Given the description of an element on the screen output the (x, y) to click on. 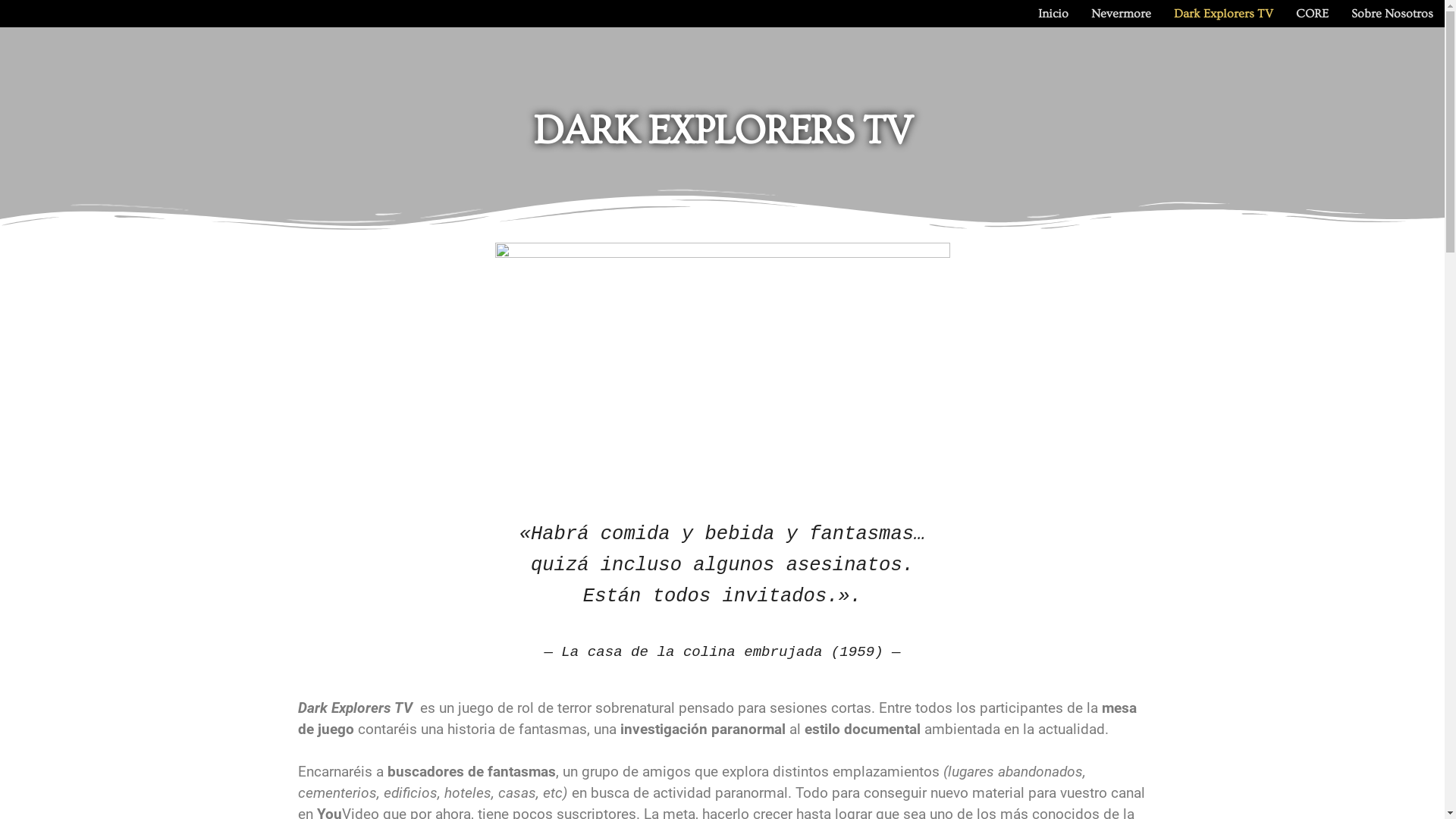
Inicio Element type: text (1052, 13)
Dark Explorers TV Element type: text (1223, 13)
Nevermore Element type: text (1120, 13)
CORE Element type: text (1311, 13)
Sobre Nosotros Element type: text (1391, 13)
